Given the description of an element on the screen output the (x, y) to click on. 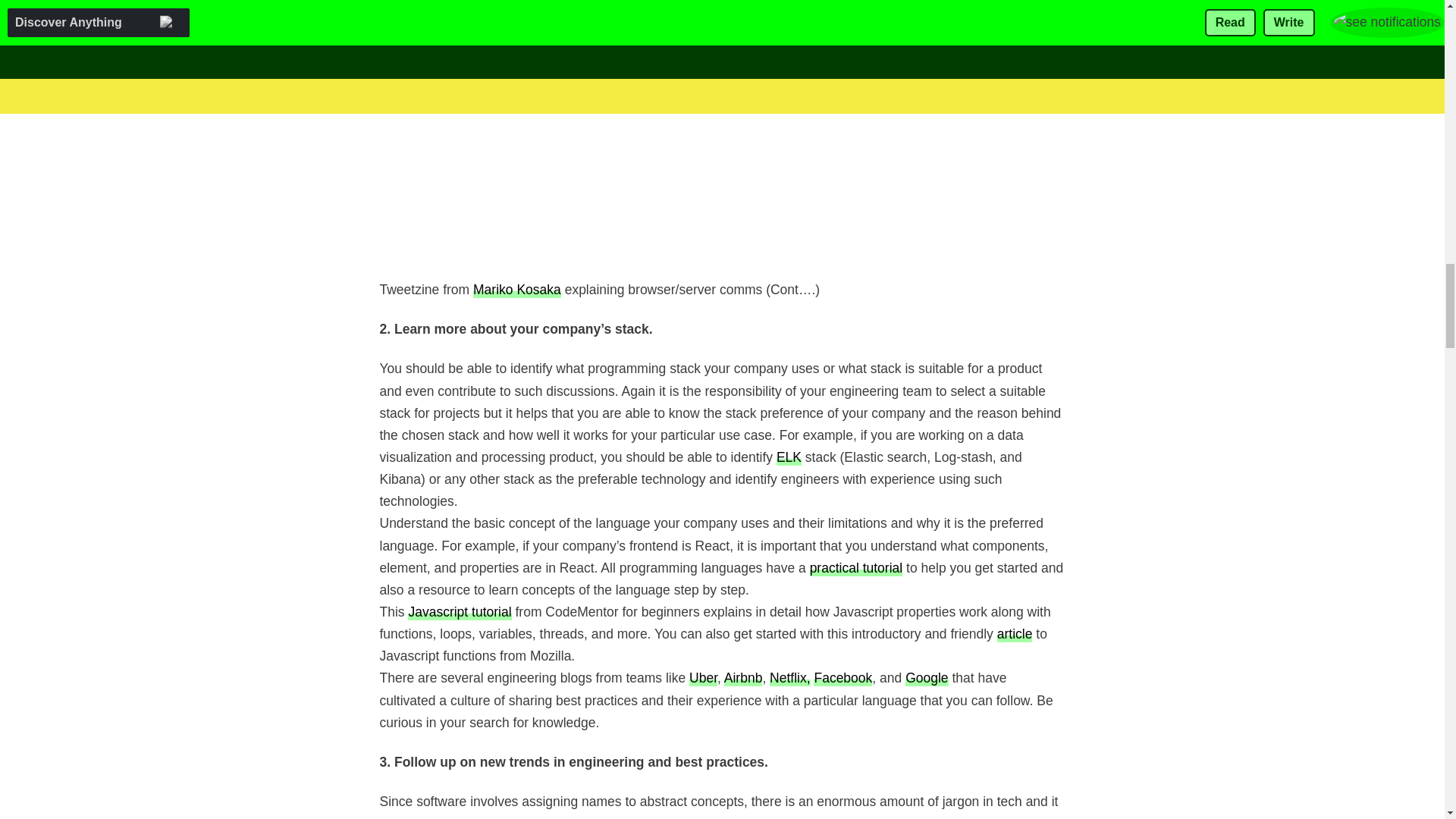
Airbnb (742, 677)
Facebook (842, 677)
Netflix, (789, 677)
Google (926, 677)
practical tutorial (855, 567)
Javascript tutorial (459, 610)
Mariko Kosaka (516, 289)
article (1014, 633)
Uber (702, 677)
ELK (789, 456)
